Given the description of an element on the screen output the (x, y) to click on. 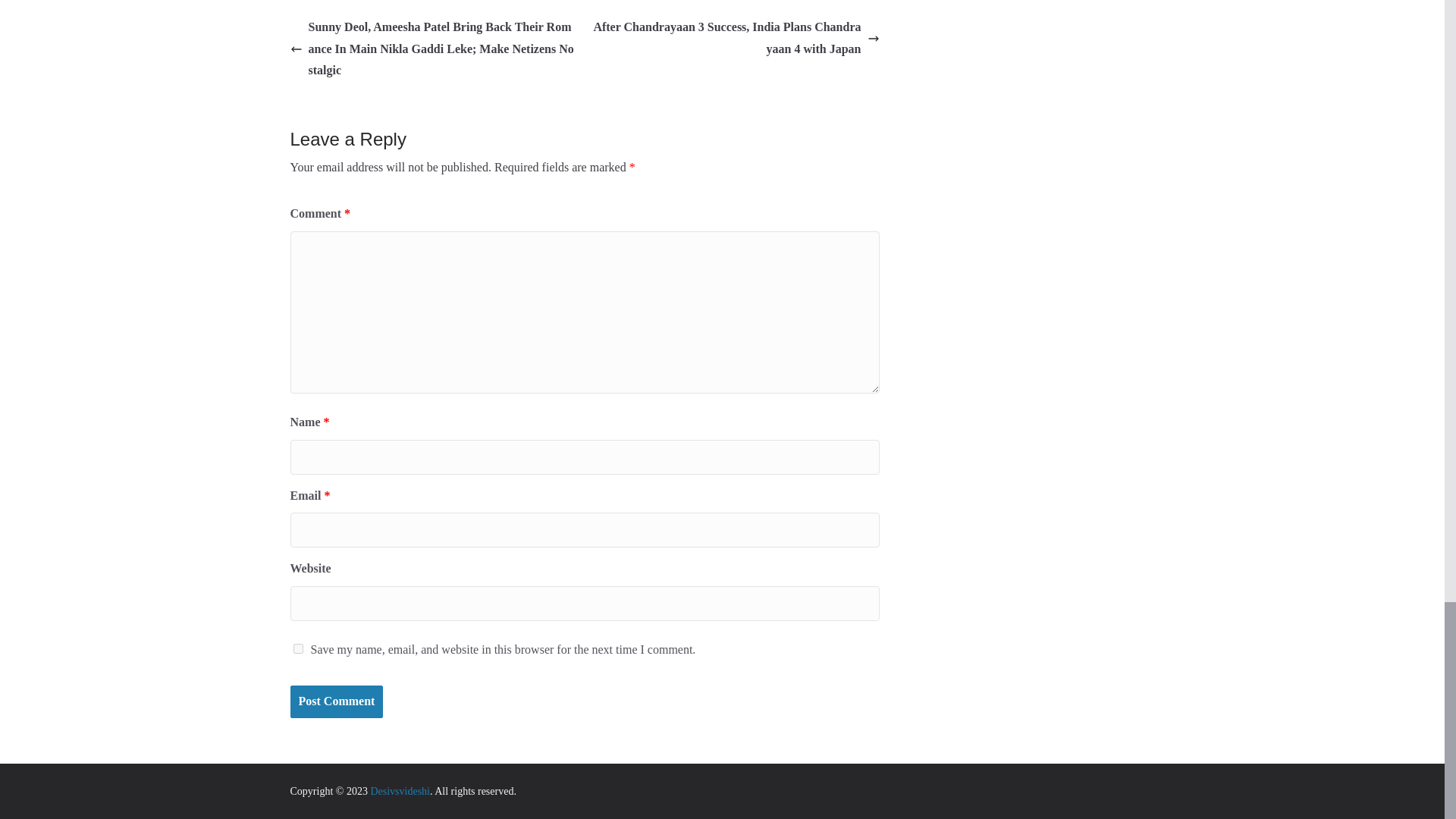
Desivsvideshi (399, 790)
Post Comment (335, 701)
Post Comment (335, 701)
Desivsvideshi (399, 790)
yes (297, 648)
